Given the description of an element on the screen output the (x, y) to click on. 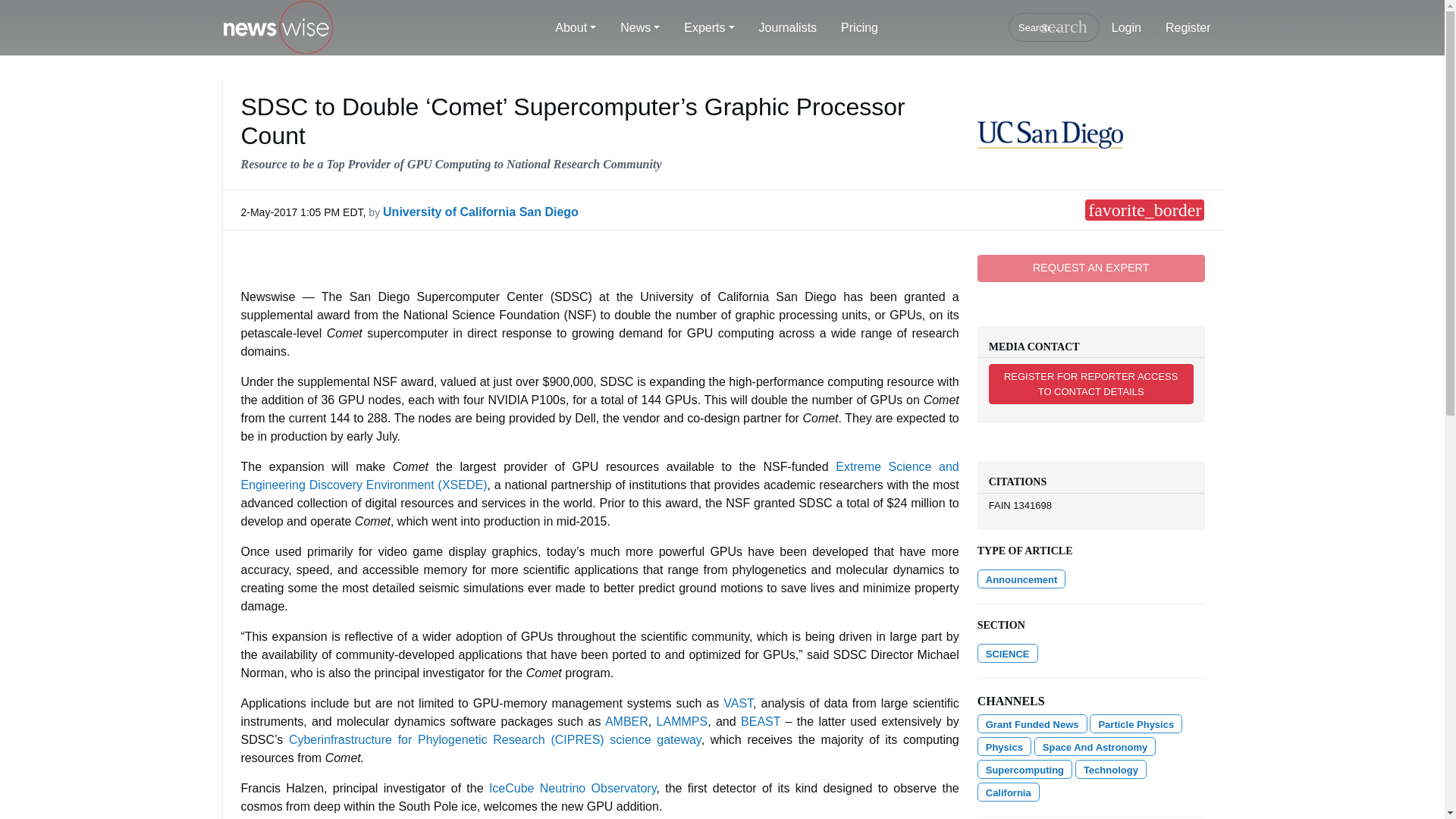
About (575, 27)
News (639, 27)
Newswise logo (277, 28)
Announcement (1020, 578)
Show all articles in this channel (1135, 723)
Show all articles in this channel (1031, 723)
Add to Favorites (1144, 209)
Show all articles in this channel (1003, 746)
Show all articles in this channel (1007, 652)
